Given the description of an element on the screen output the (x, y) to click on. 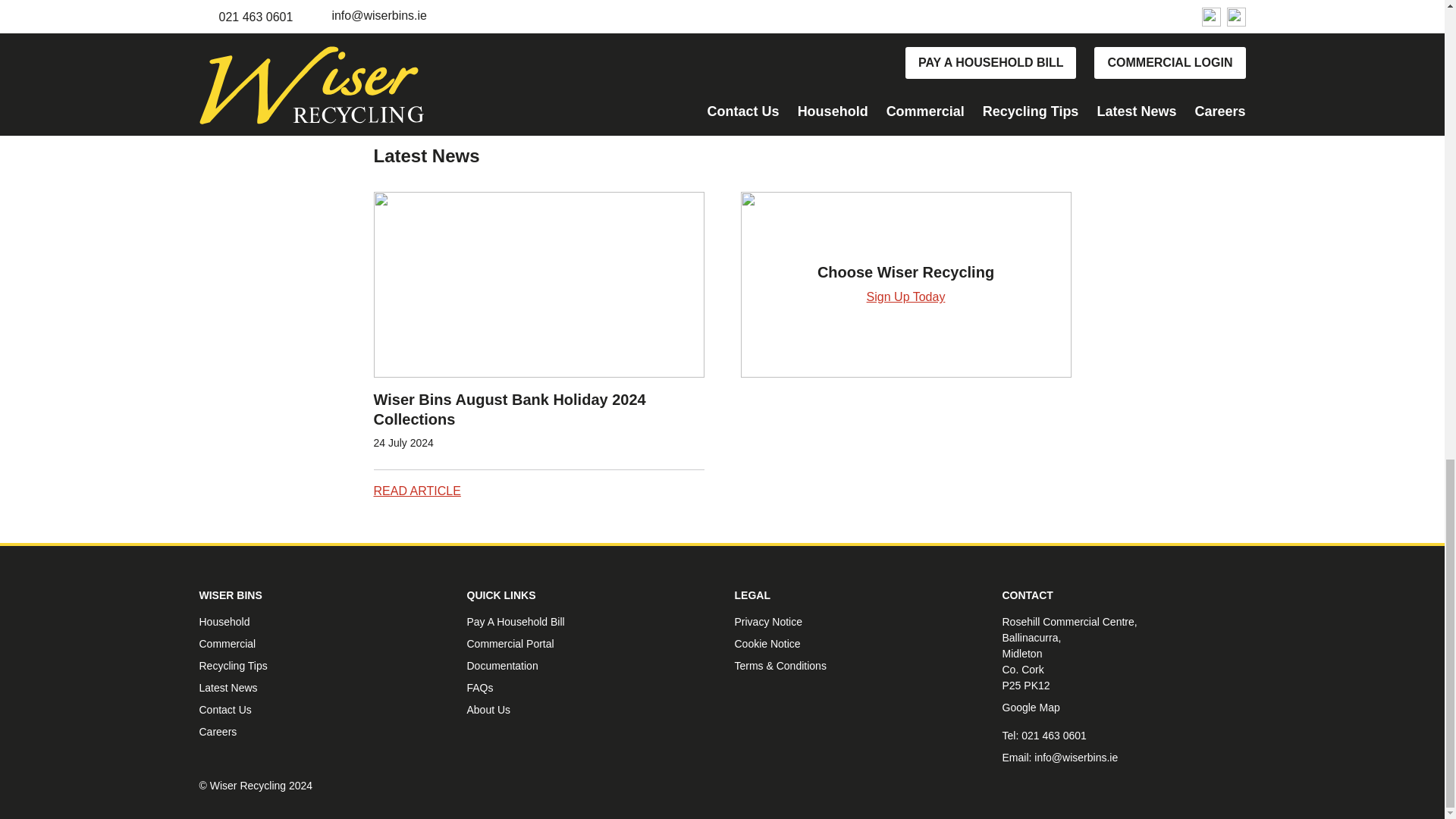
Commercial (227, 644)
Commercial Portal (510, 644)
Documentation (502, 665)
Careers (216, 731)
SIGN UP TODAY (721, 2)
Contact Us (224, 709)
Pay A Household Bill (515, 621)
Household (223, 621)
Latest News (227, 687)
READ ARTICLE (416, 491)
